Given the description of an element on the screen output the (x, y) to click on. 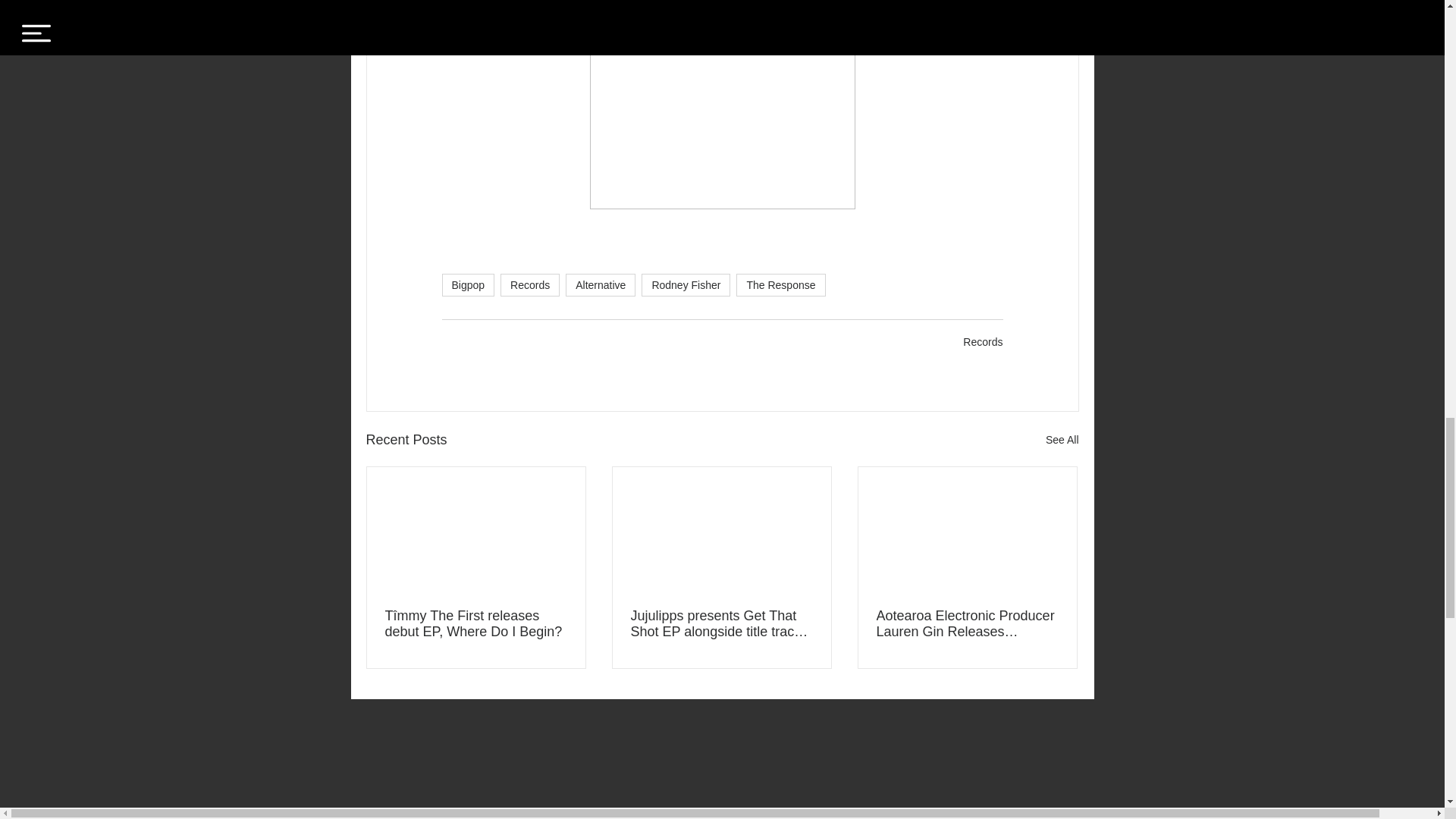
Alternative (600, 284)
Records (529, 284)
The Response (780, 284)
See All (1061, 440)
Records (982, 341)
Bigpop (468, 284)
Rodney Fisher (686, 284)
